Given the description of an element on the screen output the (x, y) to click on. 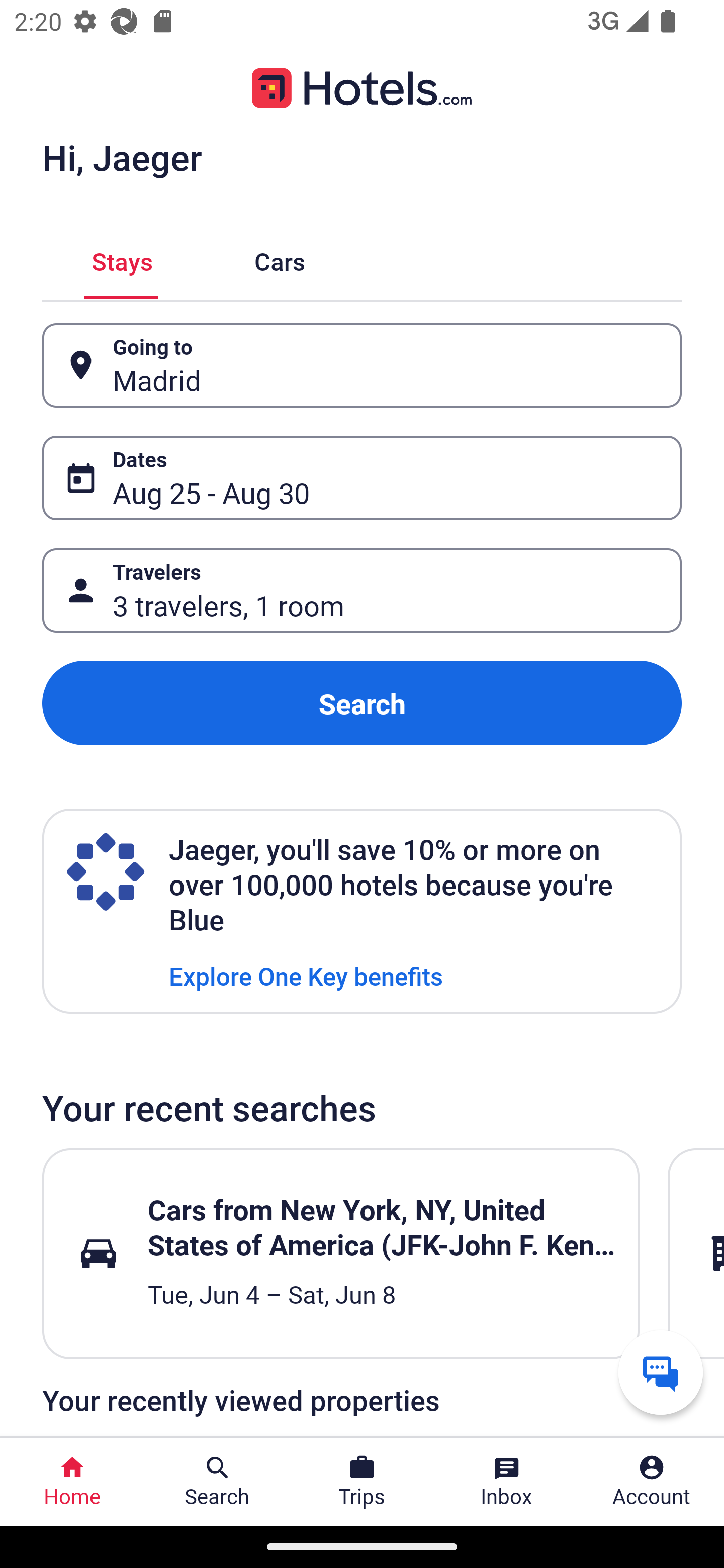
Hi, Jaeger (121, 156)
Cars (279, 259)
Going to Button Madrid (361, 365)
Dates Button Aug 25 - Aug 30 (361, 477)
Travelers Button 3 travelers, 1 room (361, 590)
Search (361, 702)
Get help from a virtual agent (660, 1371)
Search Search Button (216, 1481)
Trips Trips Button (361, 1481)
Inbox Inbox Button (506, 1481)
Account Profile. Button (651, 1481)
